Given the description of an element on the screen output the (x, y) to click on. 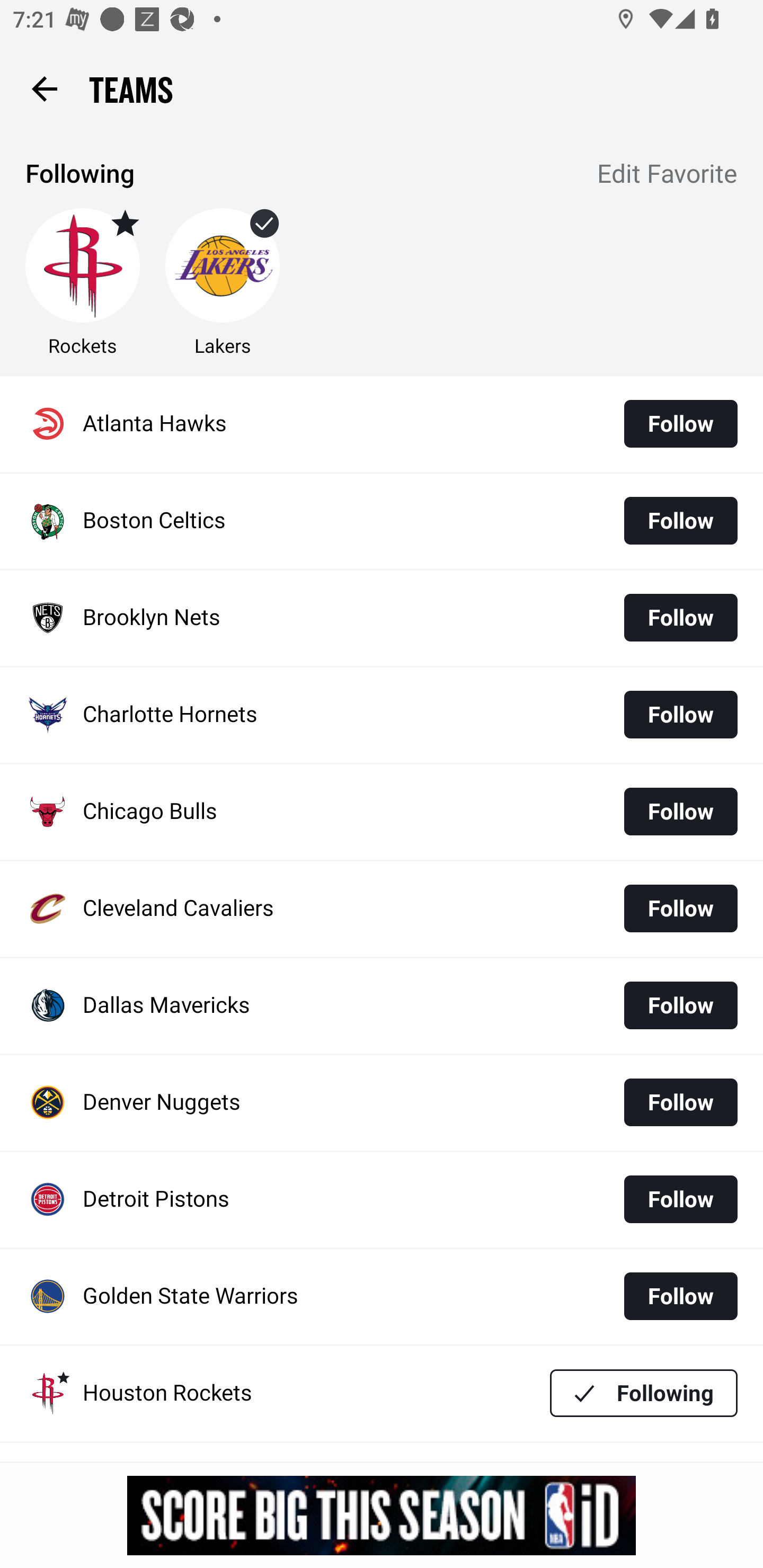
Back button (44, 88)
Edit Favorite (667, 175)
Atlanta Hawks Follow (381, 423)
Follow (680, 423)
Boston Celtics Follow (381, 521)
Follow (680, 520)
Brooklyn Nets Follow (381, 618)
Follow (680, 617)
Charlotte Hornets Follow (381, 714)
Follow (680, 713)
Chicago Bulls Follow (381, 812)
Follow (680, 811)
Cleveland Cavaliers Follow (381, 908)
Follow (680, 908)
Dallas Mavericks Follow (381, 1005)
Follow (680, 1005)
Denver Nuggets Follow (381, 1102)
Follow (680, 1101)
Detroit Pistons Follow (381, 1200)
Follow (680, 1199)
Golden State Warriors Follow (381, 1296)
Follow (680, 1295)
Houston Rockets Following (381, 1392)
Following (643, 1392)
g5nqqygr7owph (381, 1515)
